Given the description of an element on the screen output the (x, y) to click on. 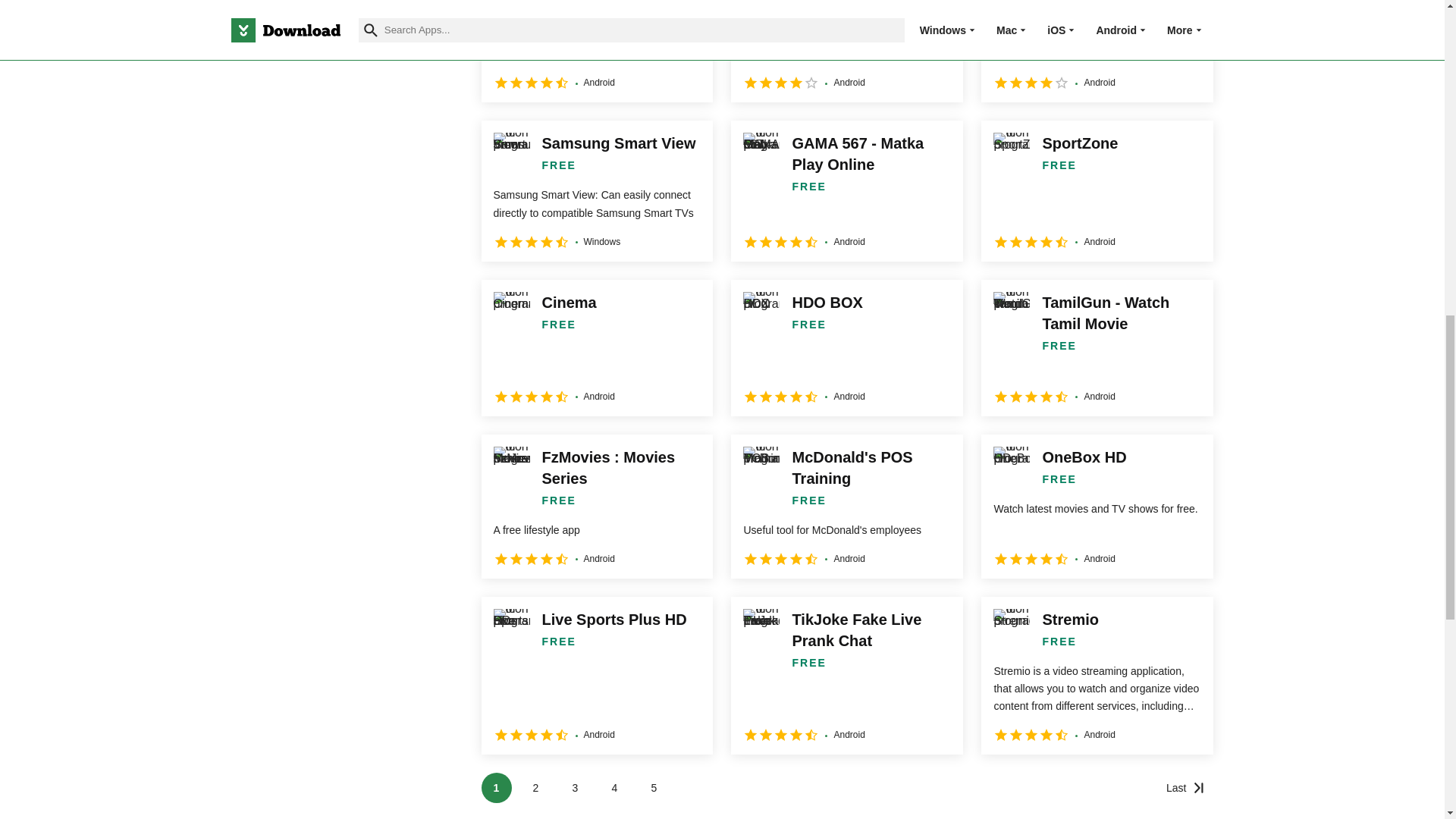
TamilGun - Watch Tamil Movie (1096, 348)
crash Predictor aviator (596, 51)
Cinema (596, 348)
McDonald's POS Training (846, 506)
DazcFutbolTv (846, 51)
SportZone (1096, 190)
FzMovies : Movies  Series (596, 506)
Samsung Smart View (596, 190)
Dev IPTV Player Pro (1096, 51)
HDO BOX (846, 348)
